Given the description of an element on the screen output the (x, y) to click on. 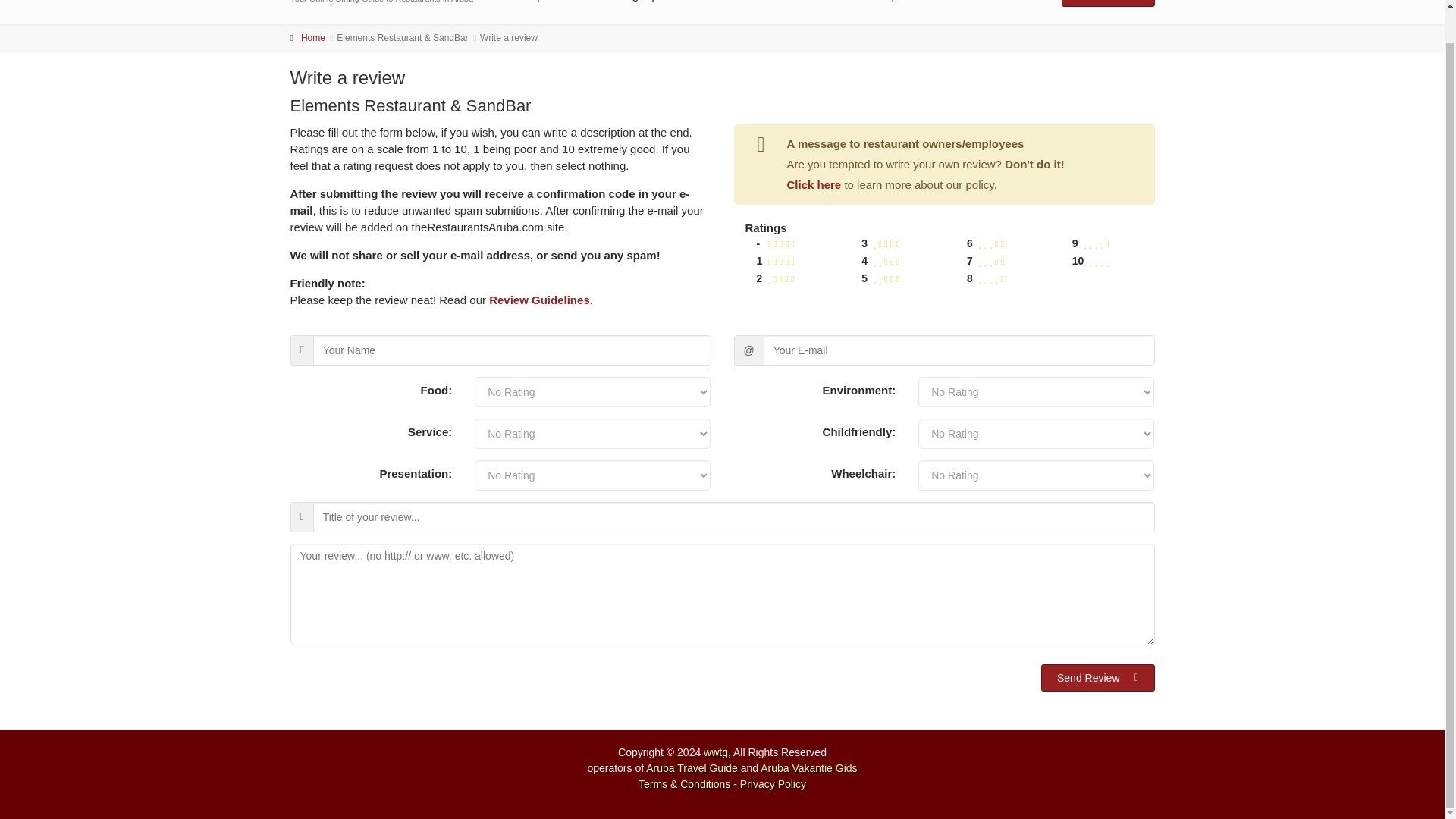
Cuisine (741, 12)
Dining Options (646, 12)
Top 10's (548, 12)
